Given the description of an element on the screen output the (x, y) to click on. 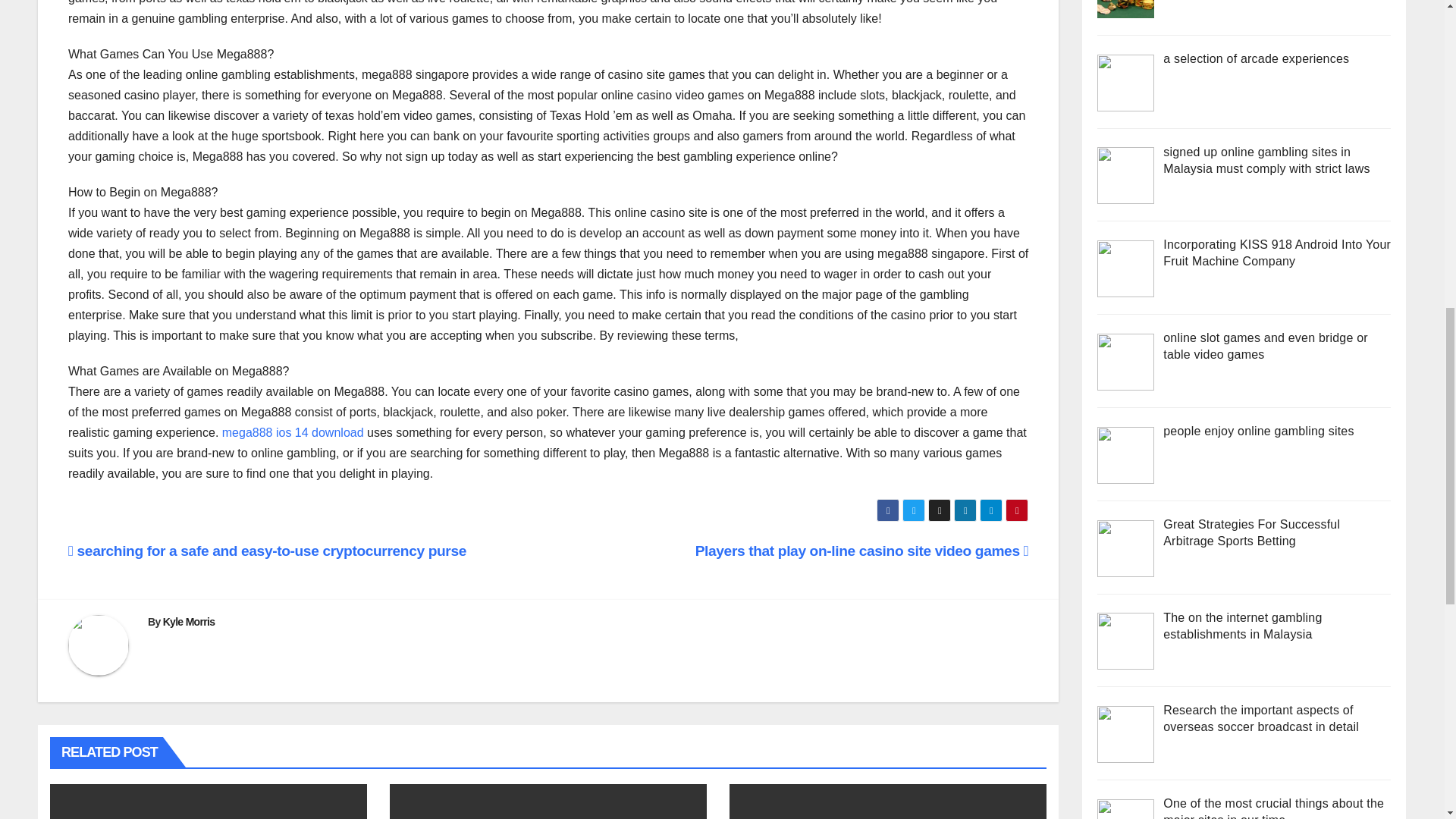
Players that play on-line casino site video games (862, 550)
Kyle Morris (189, 621)
searching for a safe and easy-to-use cryptocurrency purse (266, 550)
mega888 ios 14 download (293, 431)
